Given the description of an element on the screen output the (x, y) to click on. 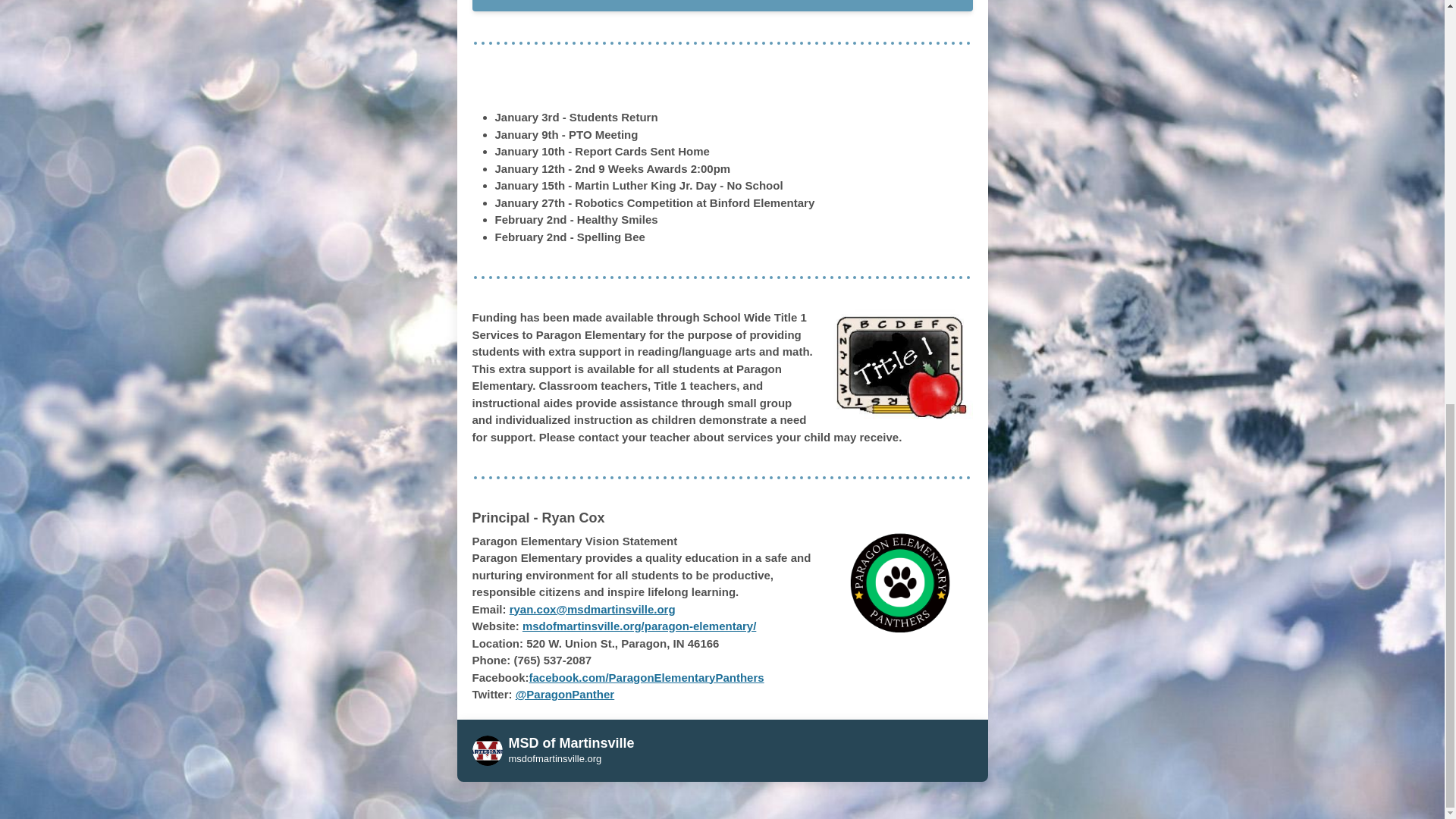
Events (776, 87)
Click Here For The Lunch Menu (721, 5)
Upcoming (691, 87)
